Given the description of an element on the screen output the (x, y) to click on. 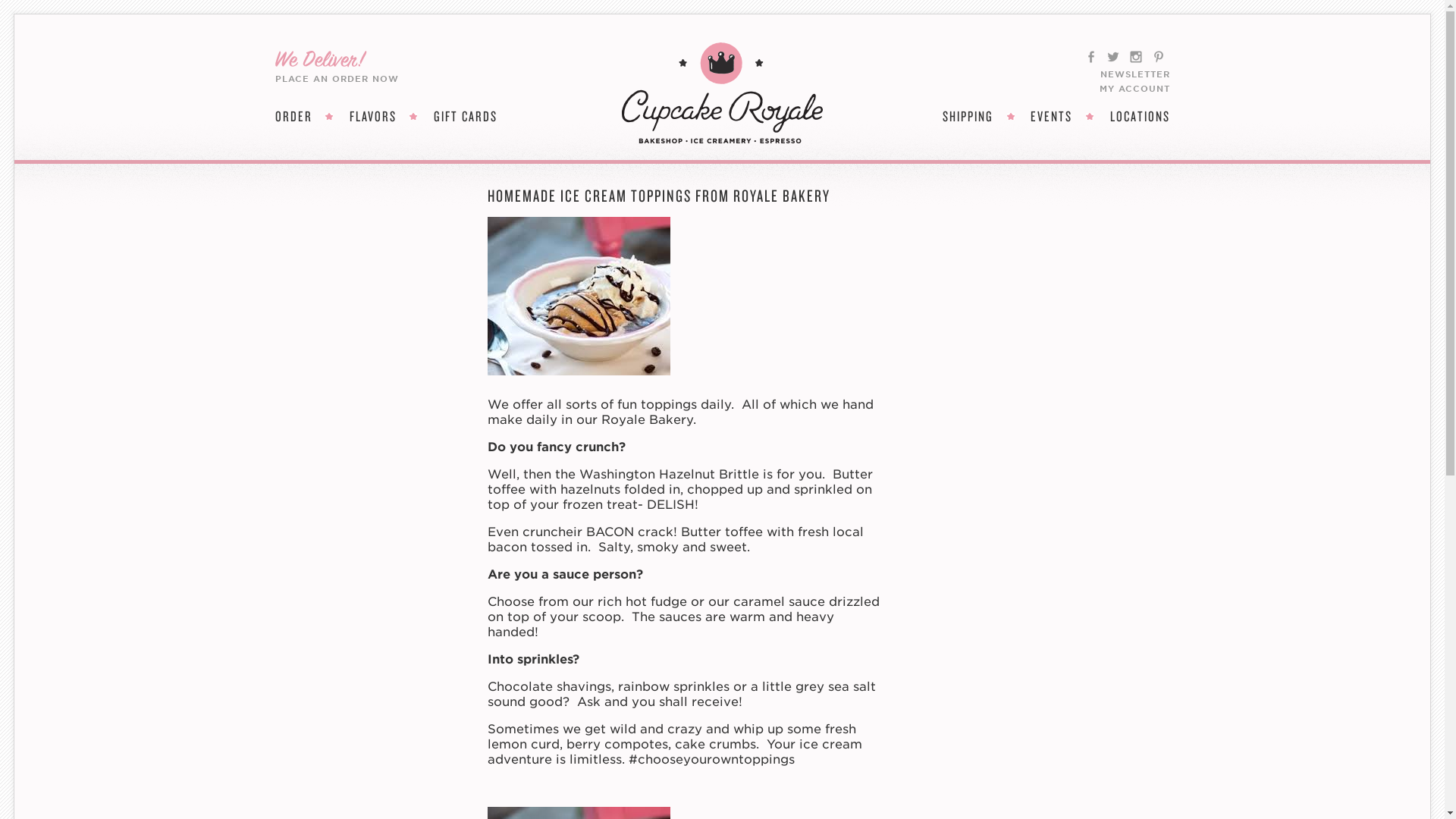
EVENTS (1050, 116)
NEWSLETTER (1134, 73)
MY ACCOUNT (1134, 88)
LOCATIONS (1139, 116)
PLACE AN ORDER NOW (336, 78)
SHIPPING (967, 116)
ORDER (293, 116)
FLAVORS (372, 116)
Homemade ice cream toppings from Royale Bakery (577, 296)
GIFT CARDS (465, 116)
